Given the description of an element on the screen output the (x, y) to click on. 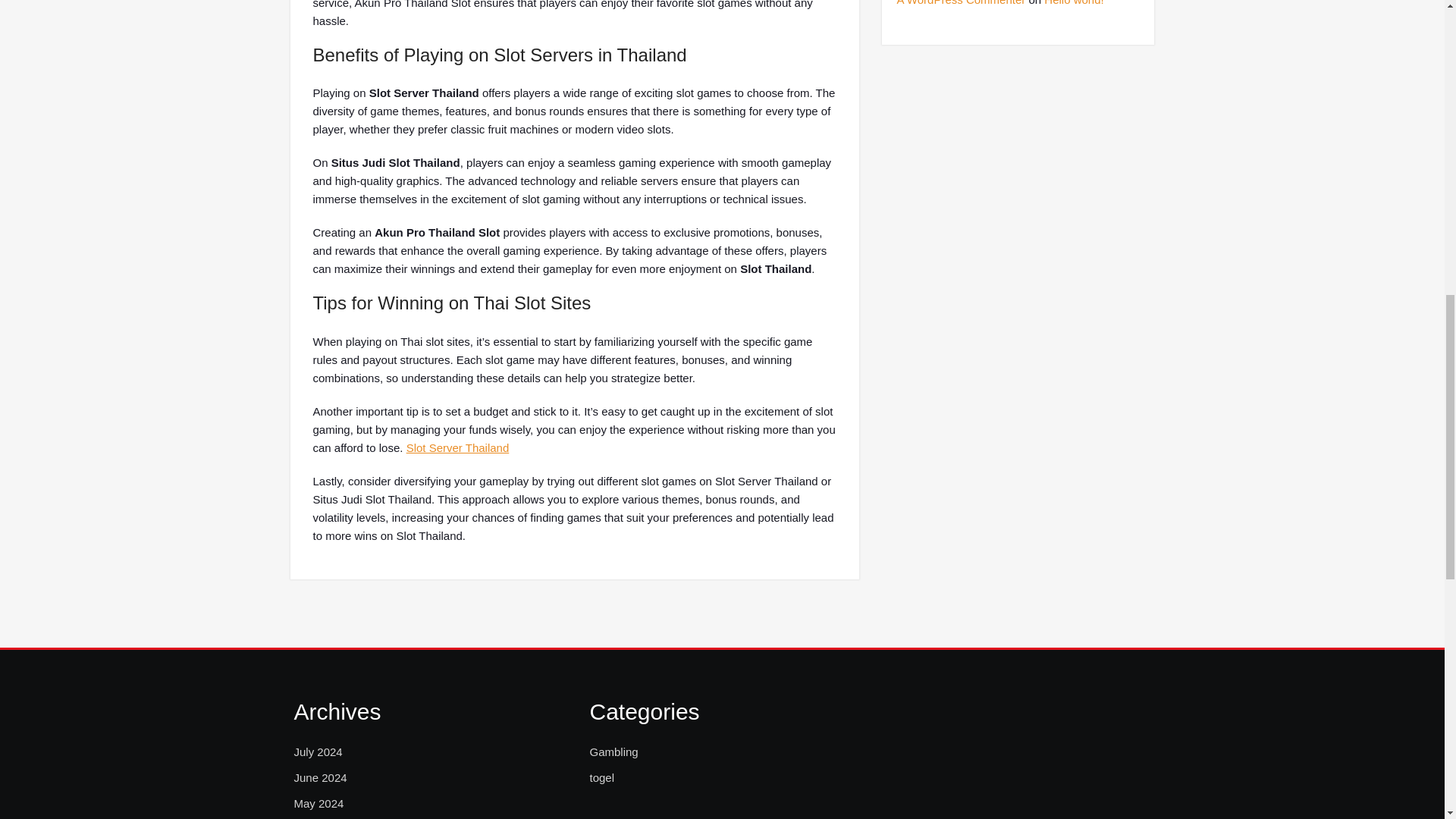
June 2024 (320, 778)
May 2024 (318, 803)
Hello world! (1073, 2)
Slot Server Thailand (457, 447)
July 2024 (318, 751)
A WordPress Commenter (960, 2)
